Given the description of an element on the screen output the (x, y) to click on. 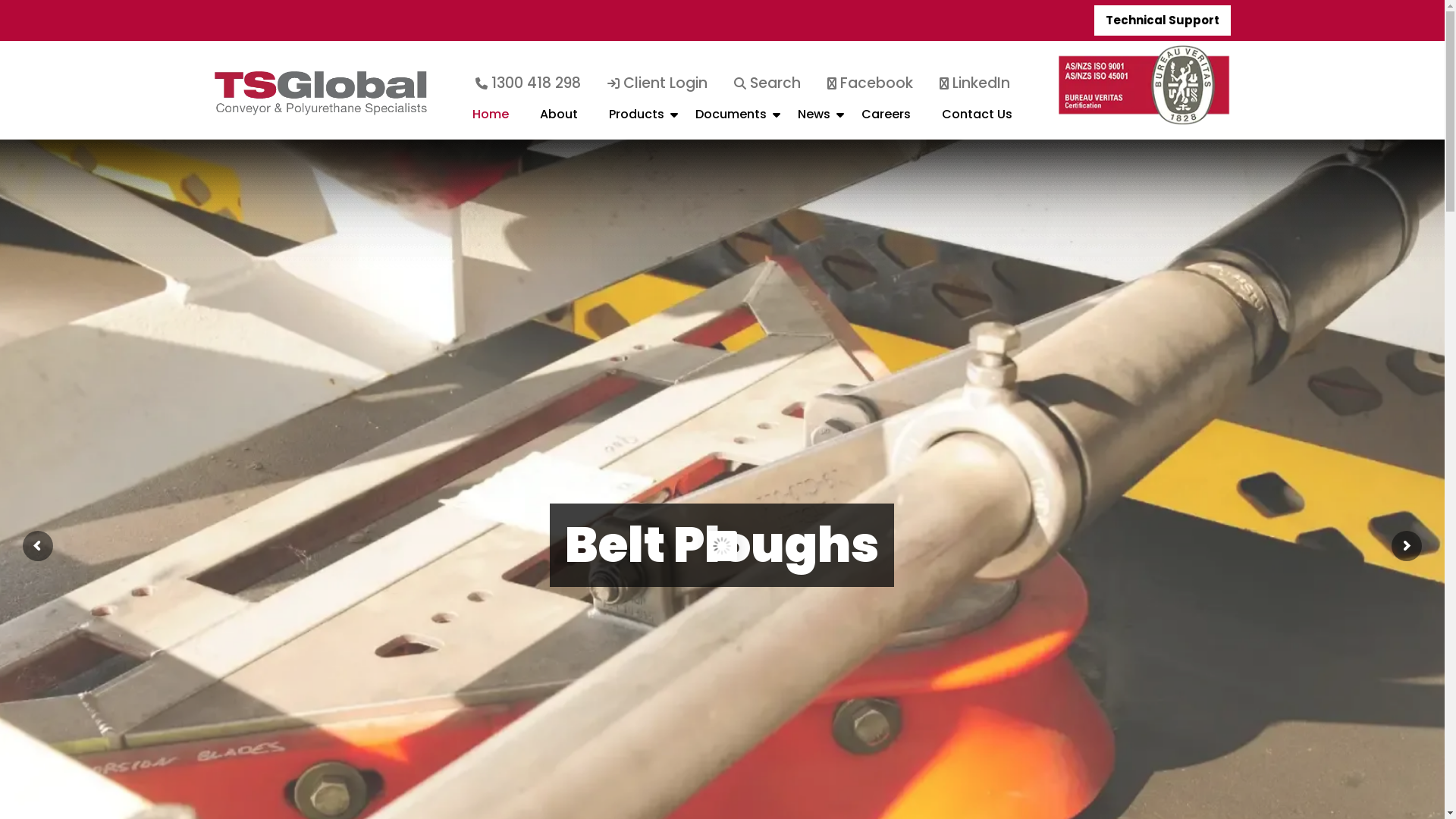
LinkedIn Element type: text (974, 83)
News Element type: text (814, 121)
Home Element type: text (490, 121)
Technical Support Element type: text (1161, 20)
Client Login Element type: text (657, 83)
Contact Us Element type: text (977, 121)
Belt Ploughs Element type: text (721, 544)
Careers Element type: text (885, 121)
Facebook Element type: text (869, 83)
Products Element type: text (636, 121)
Documents Element type: text (730, 121)
About Element type: text (558, 121)
Search Element type: text (767, 83)
1300 418 298 Element type: text (528, 83)
